Given the description of an element on the screen output the (x, y) to click on. 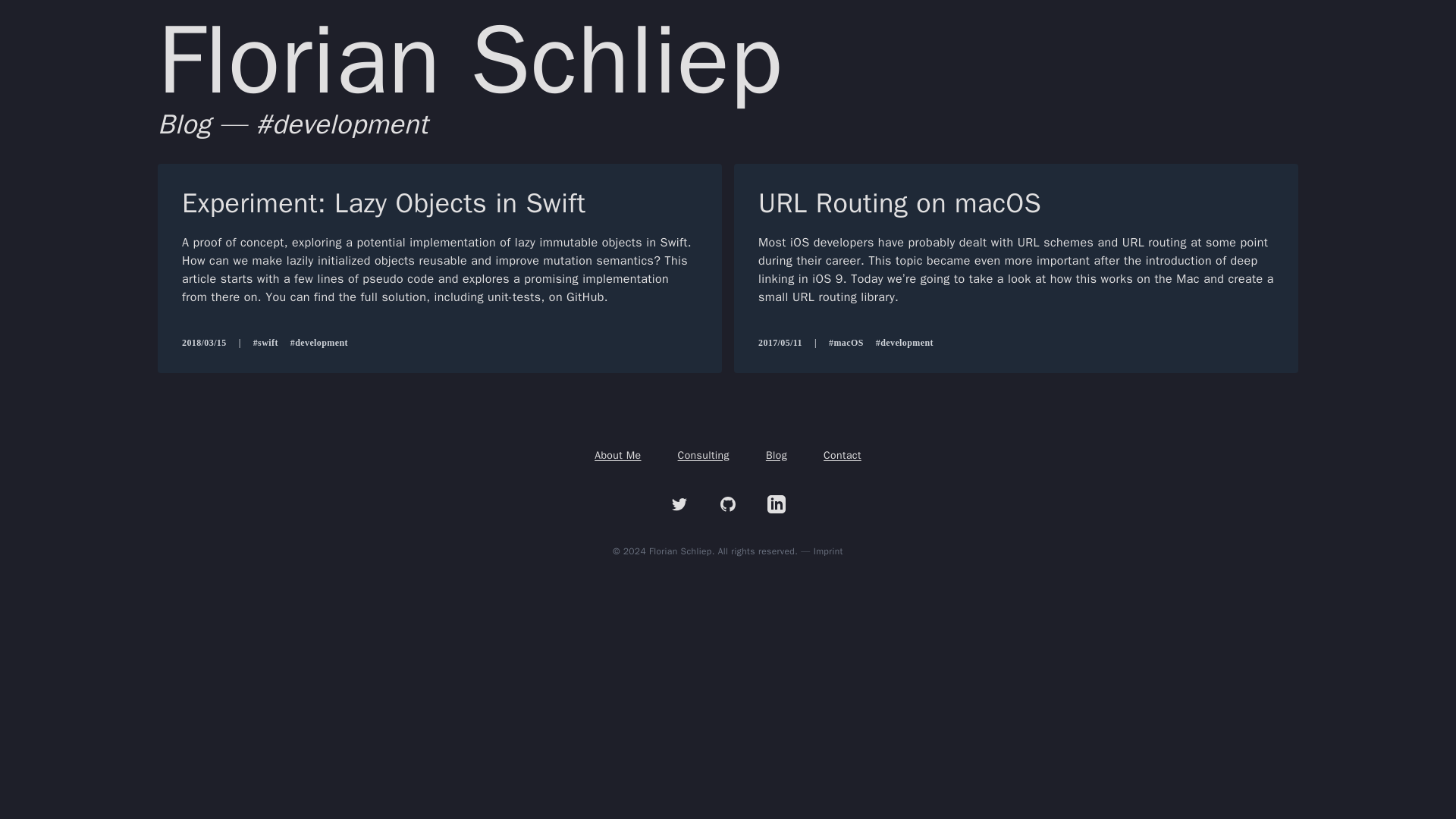
Imprint (828, 551)
Twitter (678, 504)
About Me (617, 454)
Contact (842, 454)
Blog (776, 454)
Florian Schliep (470, 60)
LinkedIn (776, 504)
Consulting (703, 454)
GitHub (727, 504)
